Given the description of an element on the screen output the (x, y) to click on. 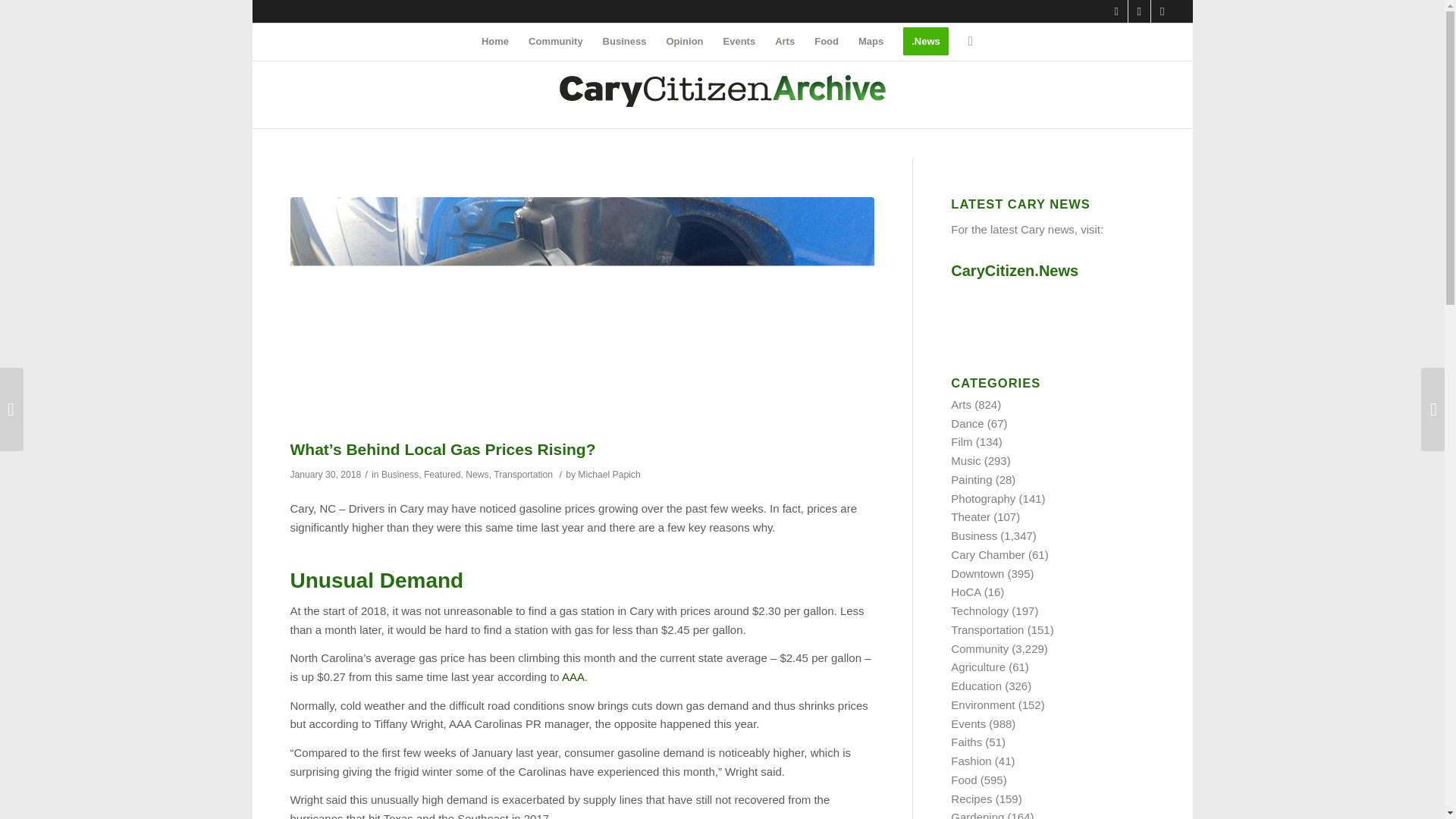
Featured (442, 474)
Michael Papich (609, 474)
Business (624, 41)
Maps (870, 41)
Opinion (684, 41)
Community (555, 41)
Transportation (523, 474)
Home (494, 41)
AAA (573, 676)
Arts (785, 41)
